Given the description of an element on the screen output the (x, y) to click on. 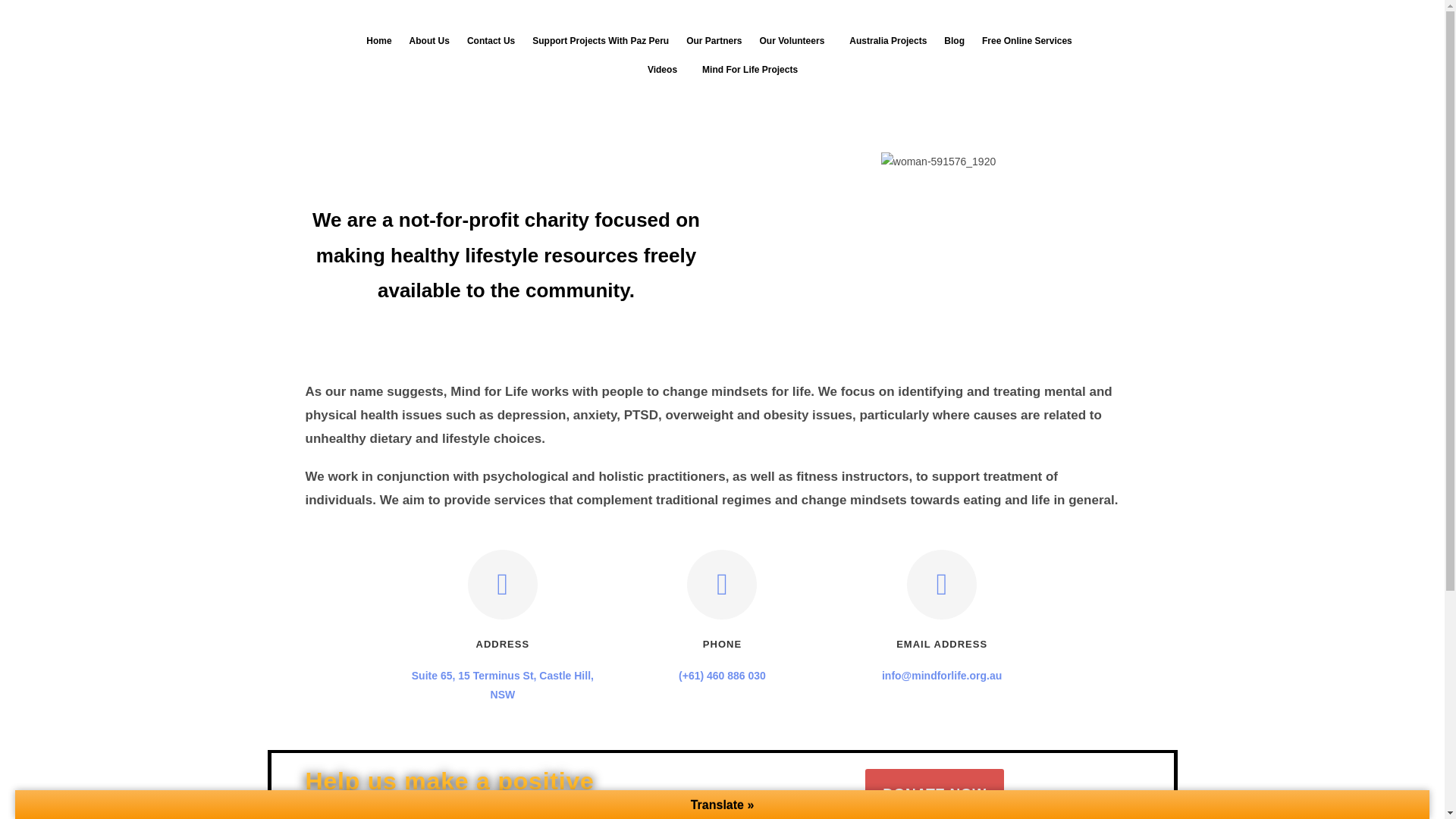
Australia Projects (887, 40)
About Us (429, 40)
Support Projects With Paz Peru (600, 40)
Contact Us (490, 40)
Blog (954, 40)
Videos (666, 69)
Our Volunteers (796, 40)
Free Online Services (1030, 40)
Mind For Life Projects (753, 69)
Our Partners (713, 40)
Home (378, 40)
